Given the description of an element on the screen output the (x, y) to click on. 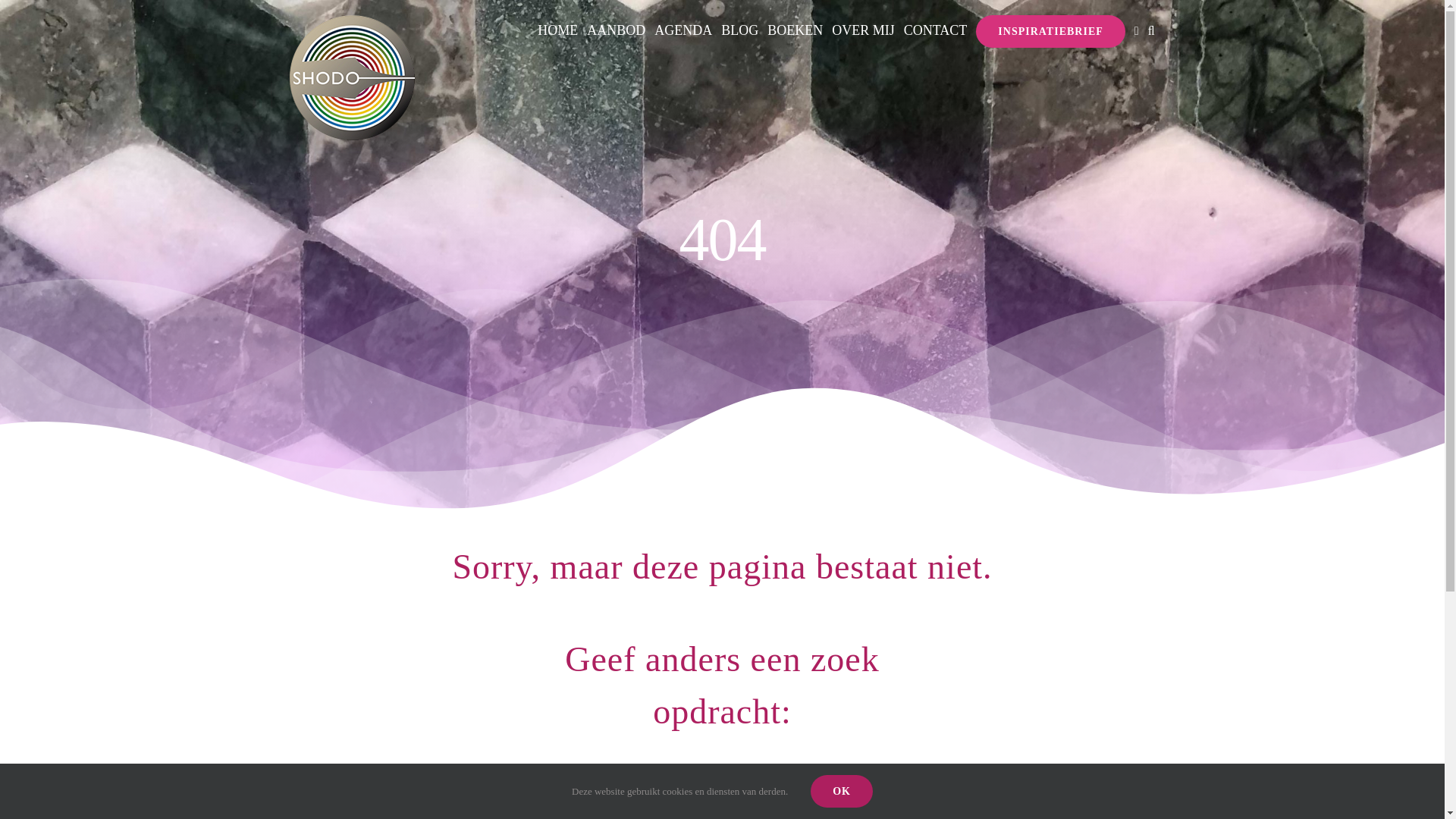
CONTACT (936, 31)
HOME (557, 31)
OVER MIJ (863, 31)
INSPIRATIEBRIEF (1049, 31)
OK (841, 790)
BOEKEN (794, 31)
AGENDA (682, 31)
BLOG (739, 31)
AANBOD (615, 31)
